Given the description of an element on the screen output the (x, y) to click on. 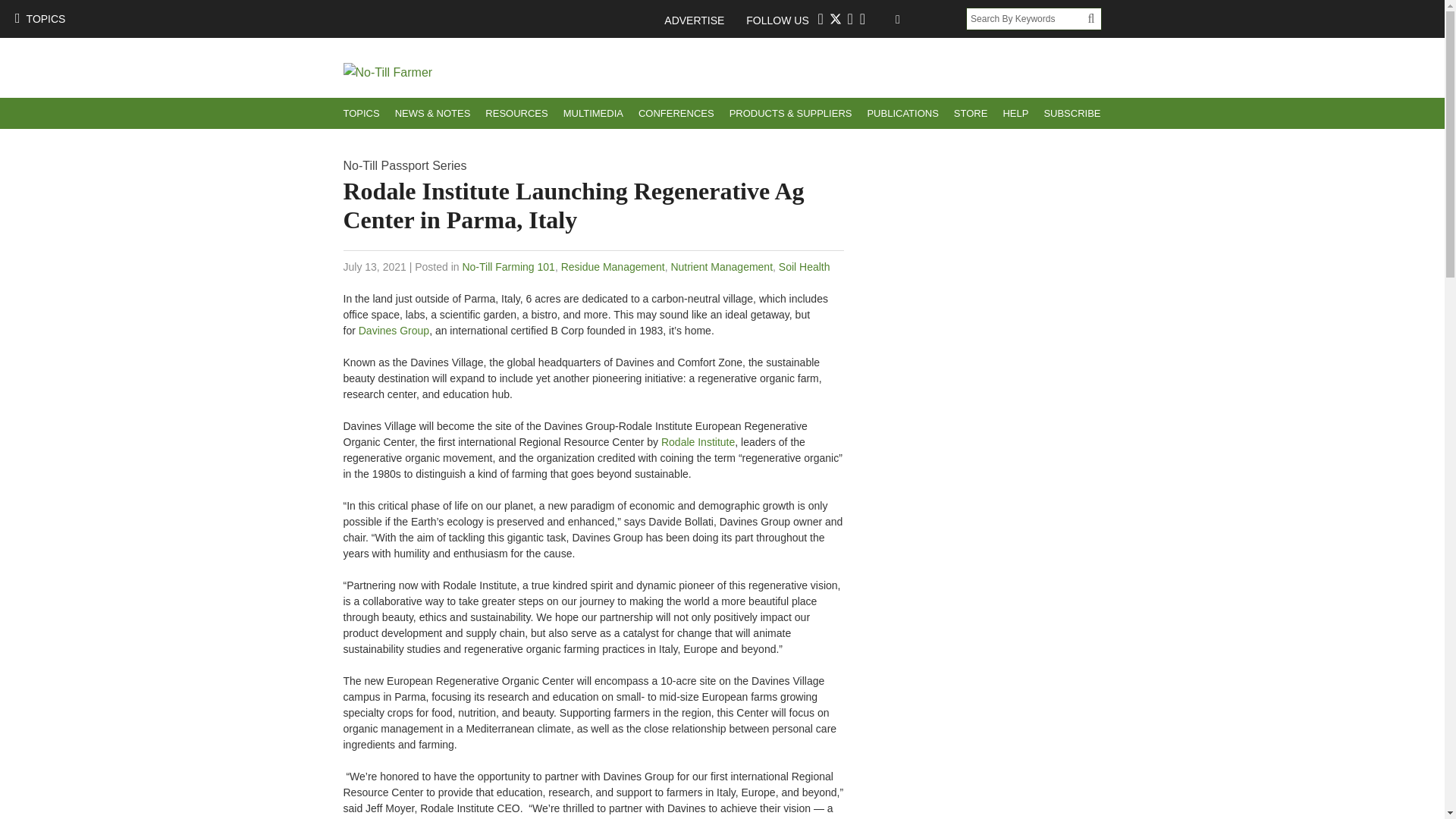
Search By Keywords (1026, 18)
TOPICS (360, 112)
Search By Keywords (1026, 18)
ADVERTISE (701, 20)
TOPICS (39, 18)
